Given the description of an element on the screen output the (x, y) to click on. 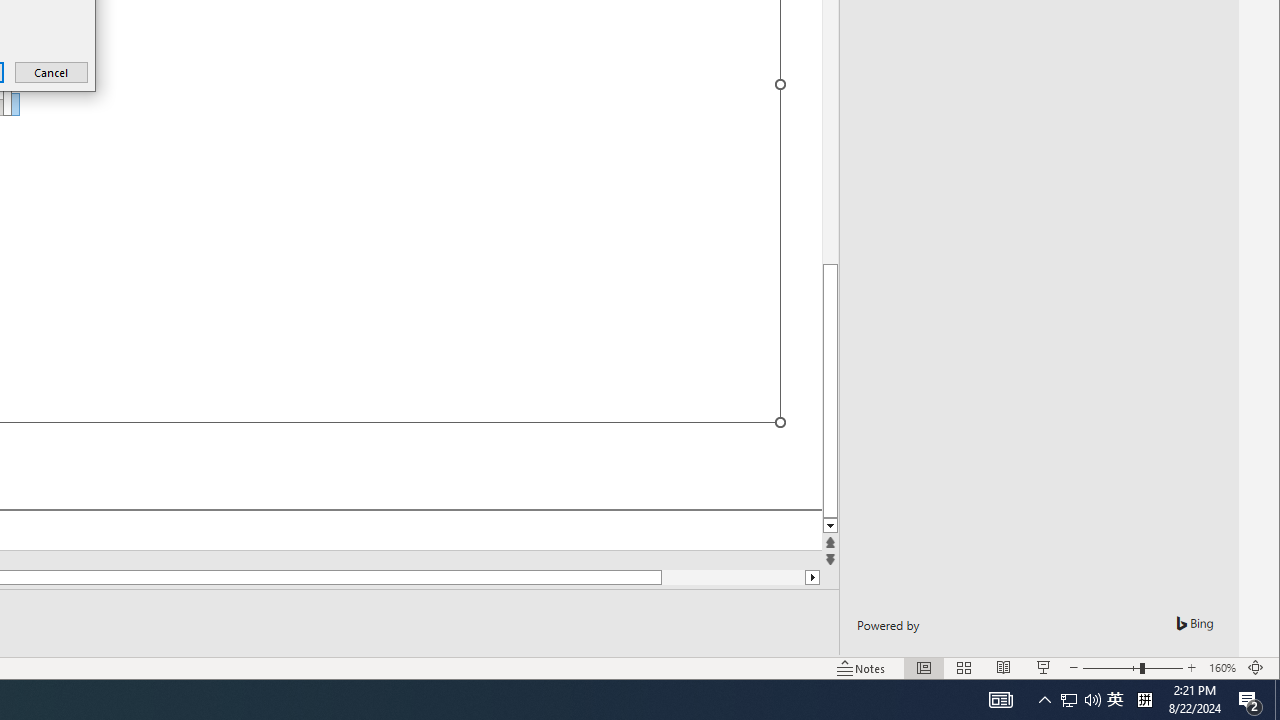
Zoom 160% (1222, 668)
Cancel (51, 72)
